Given the description of an element on the screen output the (x, y) to click on. 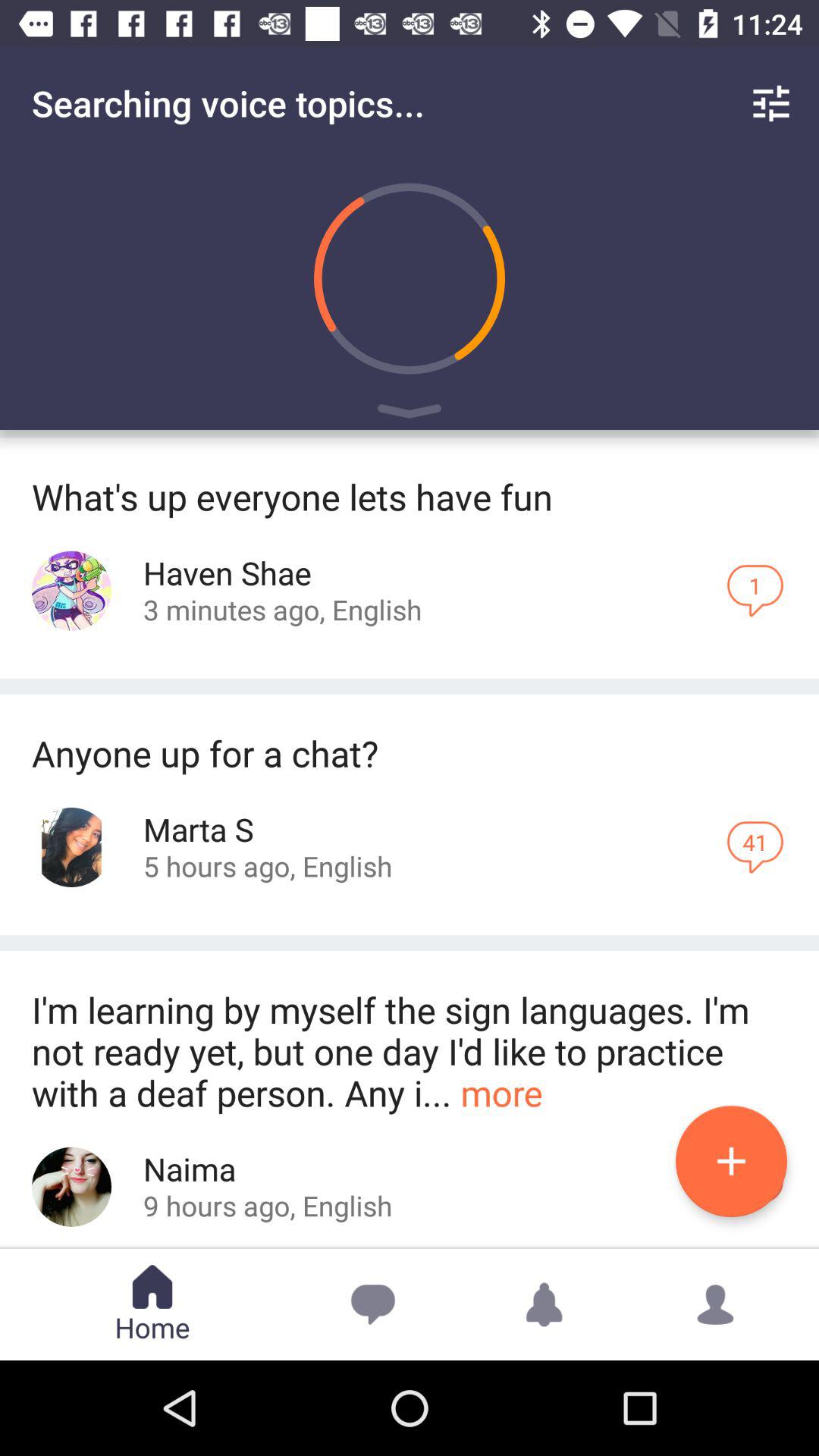
add option (731, 1161)
